Given the description of an element on the screen output the (x, y) to click on. 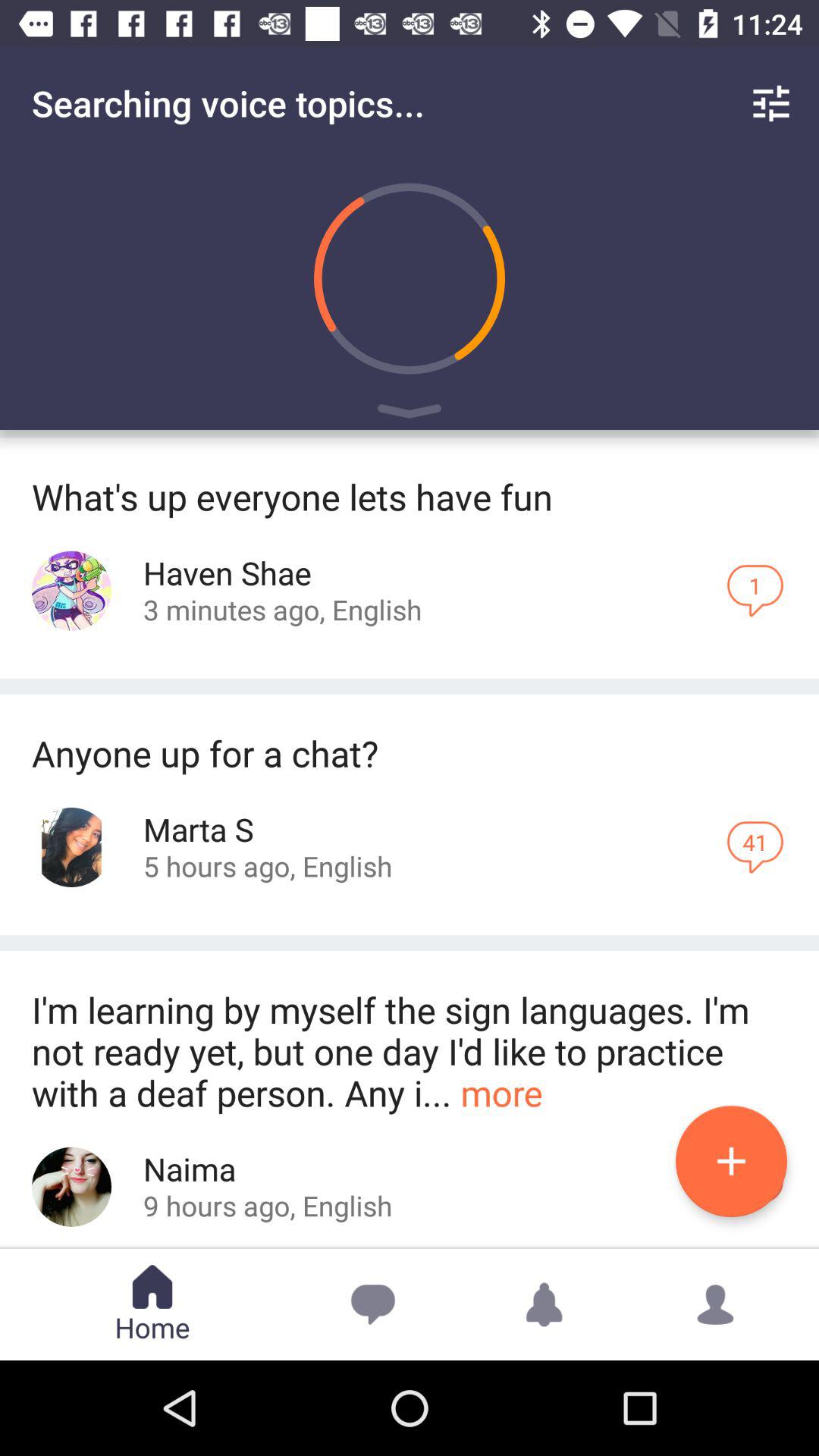
add option (731, 1161)
